Given the description of an element on the screen output the (x, y) to click on. 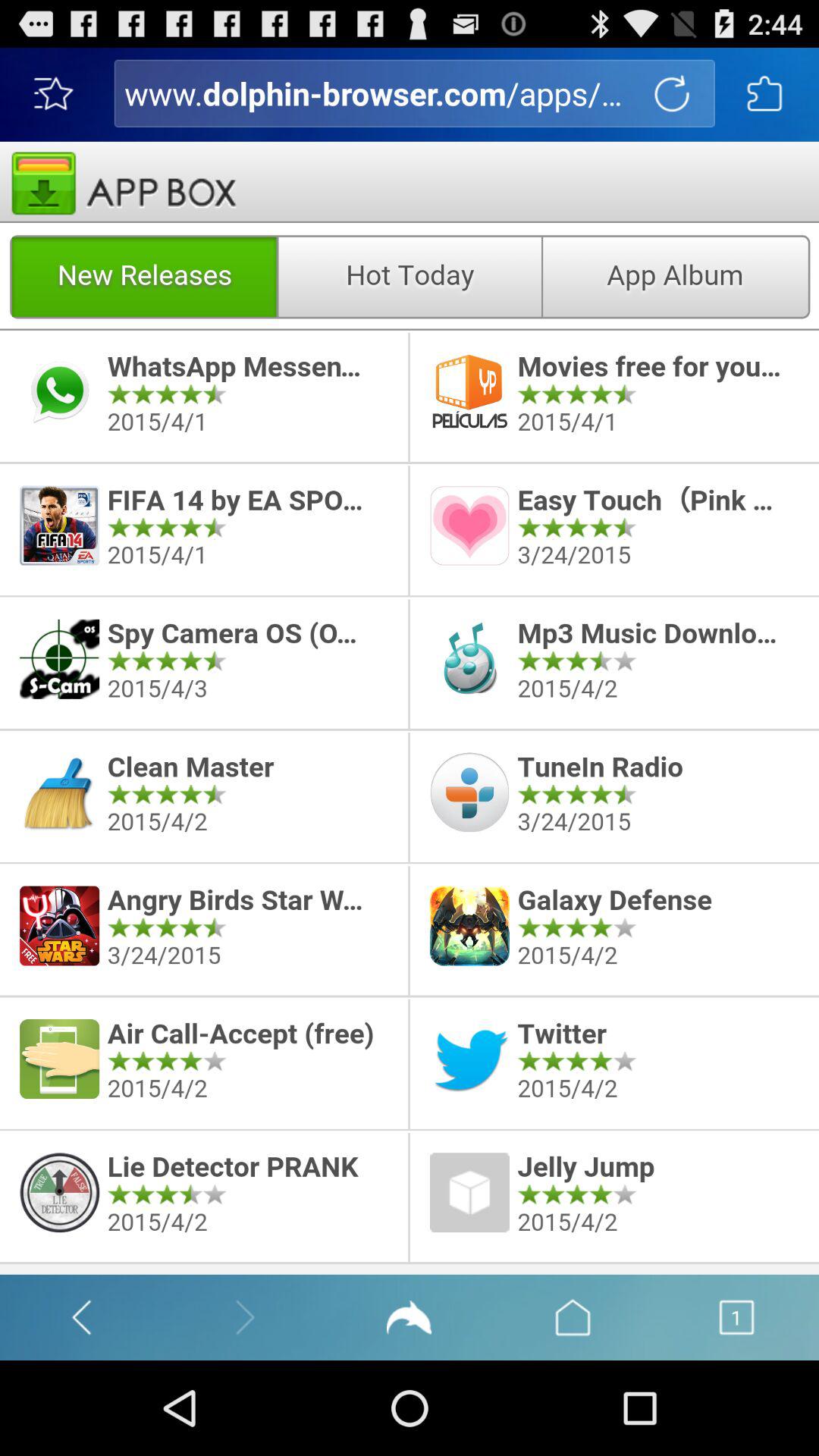
discretion (409, 707)
